Given the description of an element on the screen output the (x, y) to click on. 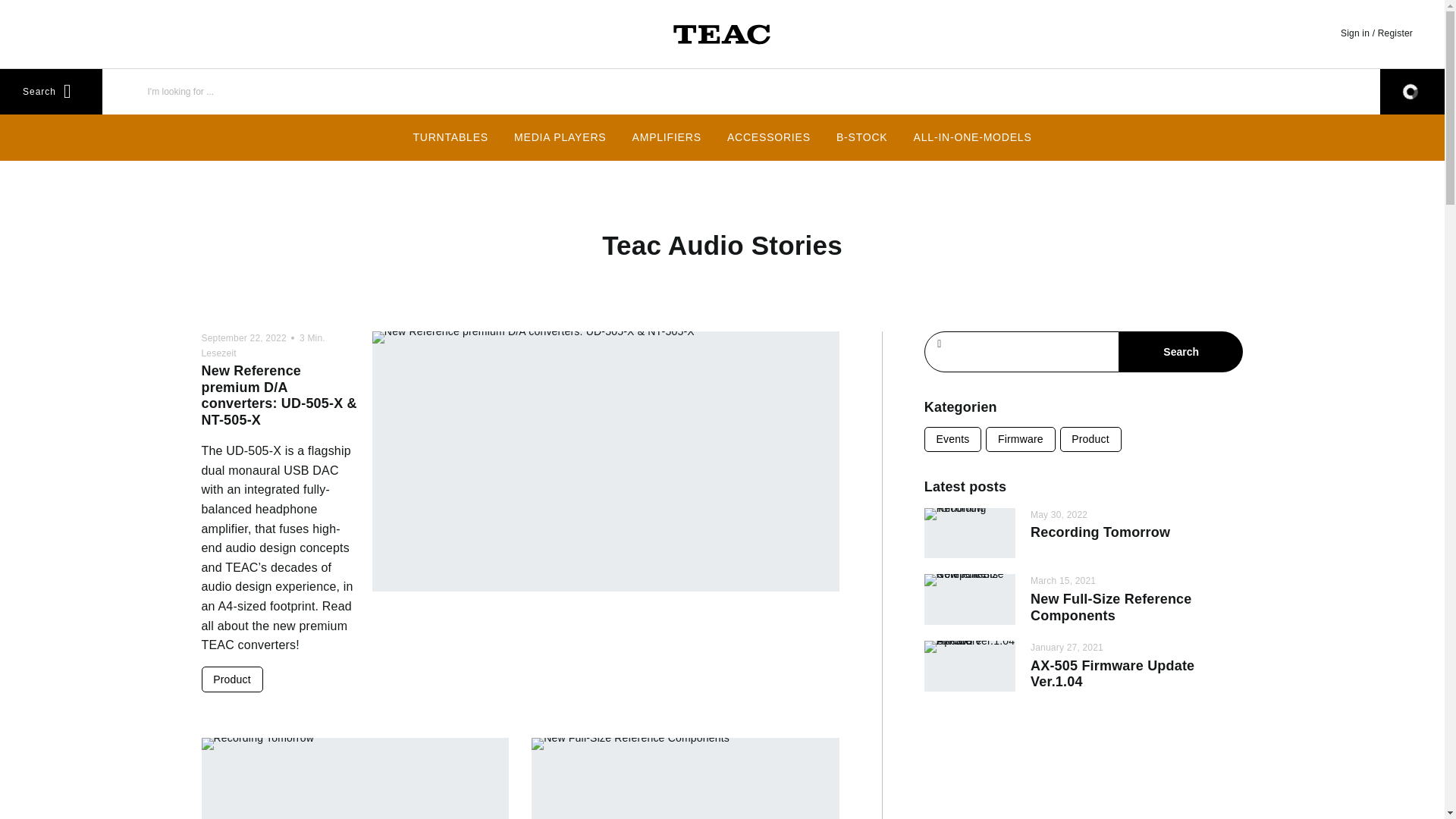
All-in-one-Models (972, 136)
ALL-IN-ONE-MODELS (972, 136)
MEDIA PLAYERS (559, 136)
Search (1181, 351)
ACCESSORIES (769, 136)
Product (232, 679)
B-STOCK (862, 136)
Turntables (450, 136)
Media Players (559, 136)
TURNTABLES (450, 136)
